Given the description of an element on the screen output the (x, y) to click on. 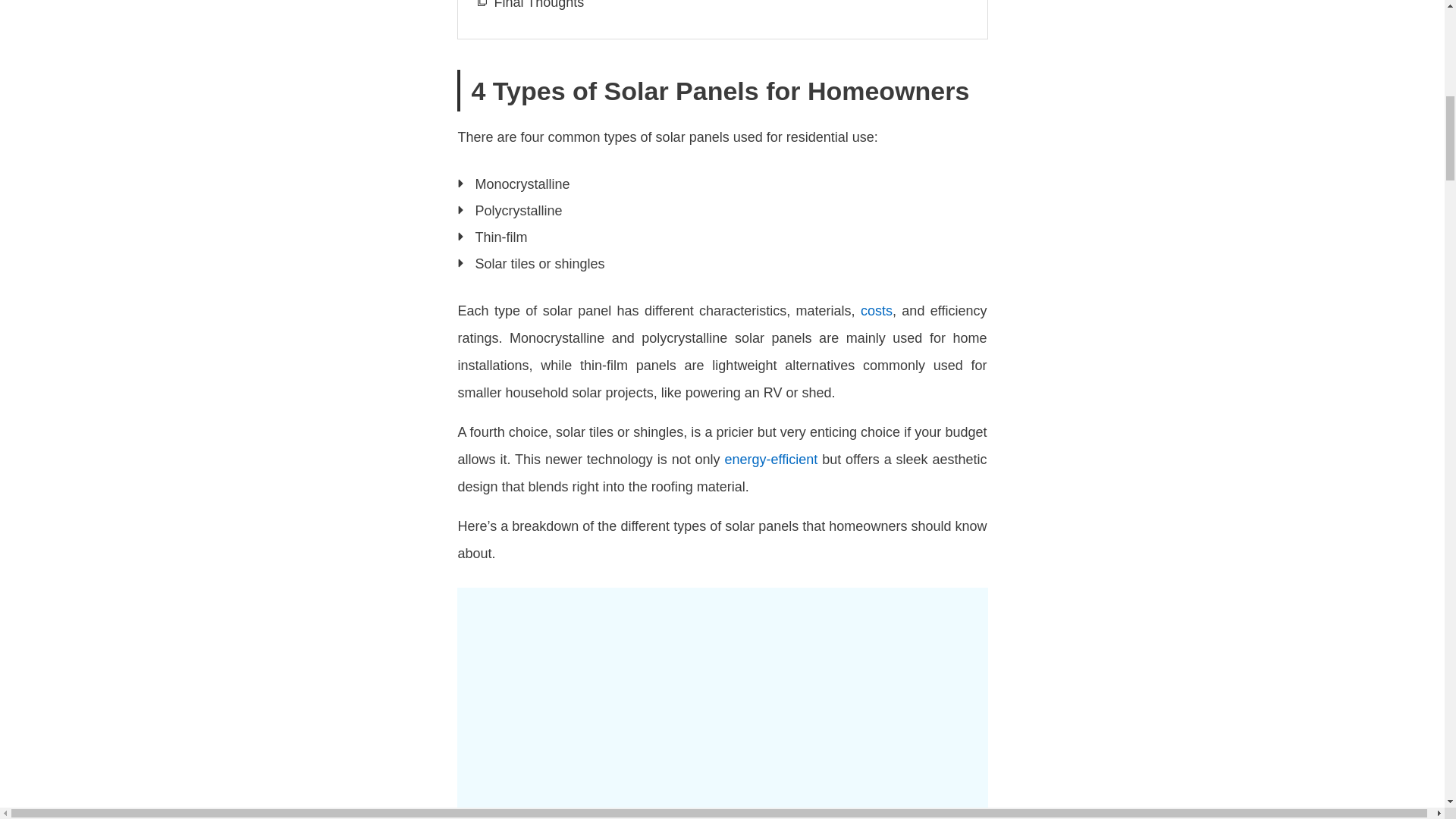
Monocrystalline solar panels (721, 712)
Final Thoughts (540, 6)
energy-efficient (769, 459)
Final Thoughts (540, 6)
costs (876, 310)
